Given the description of an element on the screen output the (x, y) to click on. 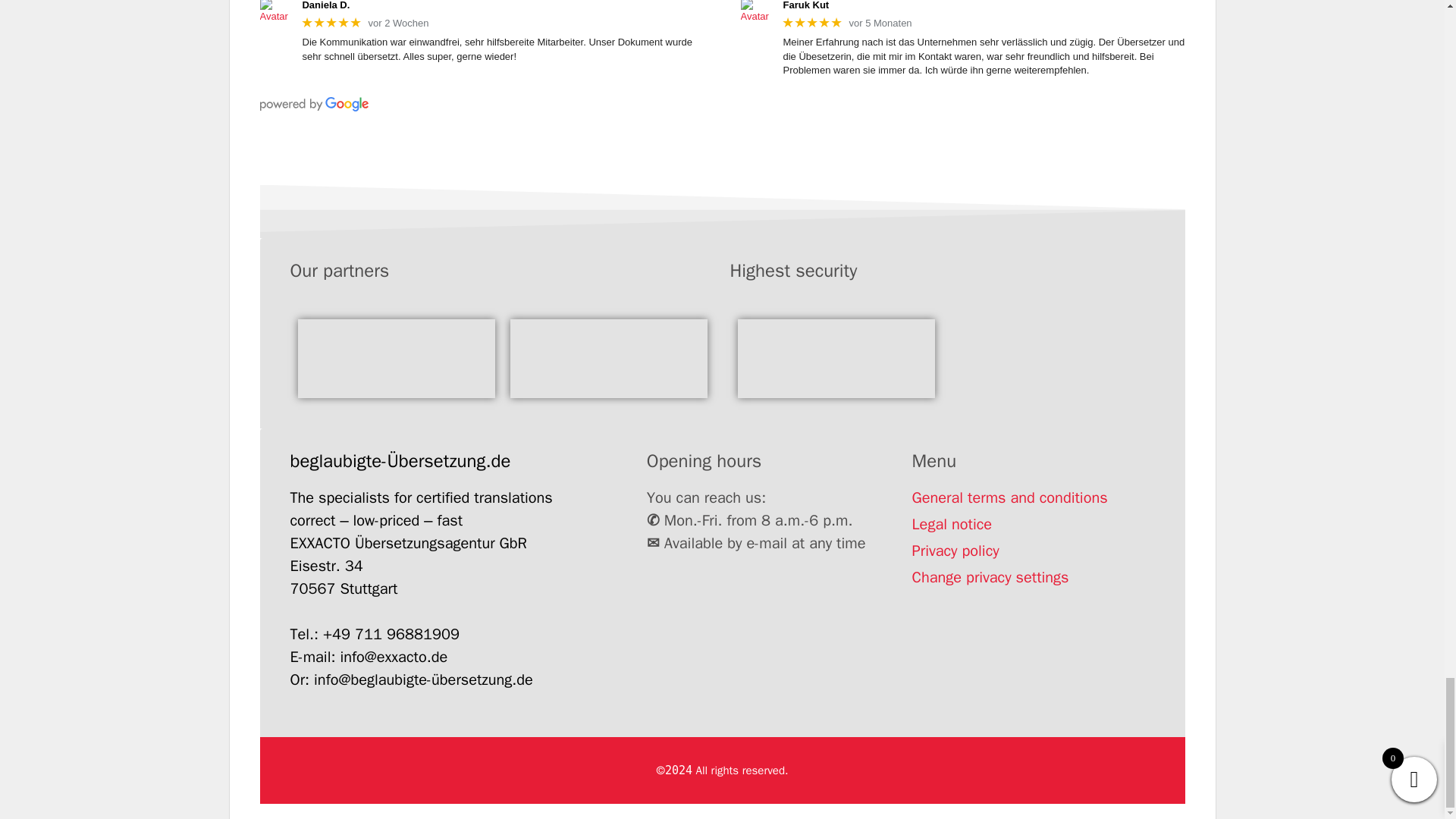
Powered by Google (313, 104)
SSL-Secure-Connection (835, 358)
Footer Menu 2 (607, 358)
Footer Menu 1 (396, 358)
